Given the description of an element on the screen output the (x, y) to click on. 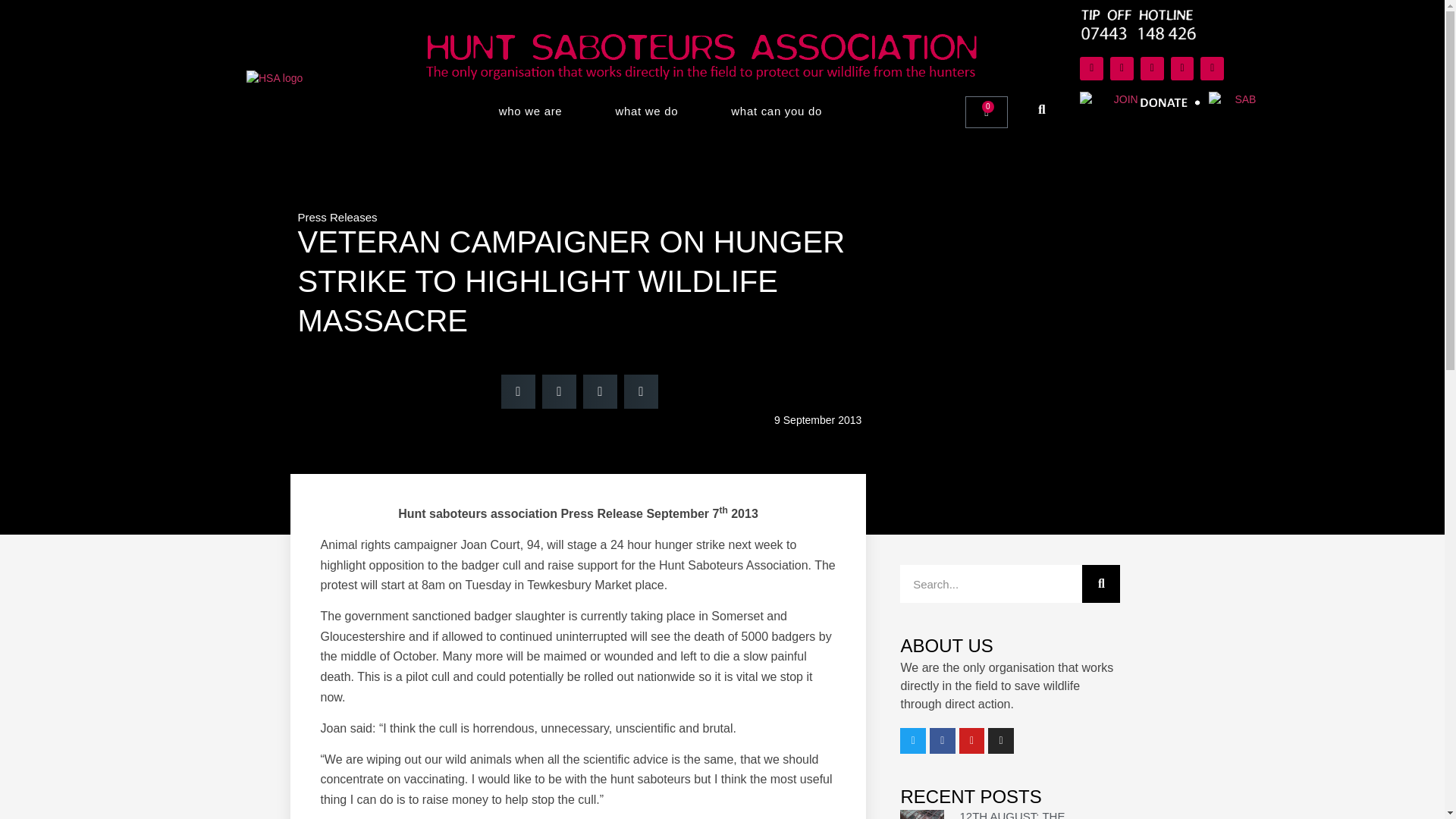
what we do (646, 111)
what can you do (775, 111)
HSA logo (274, 78)
who we are (530, 111)
